Given the description of an element on the screen output the (x, y) to click on. 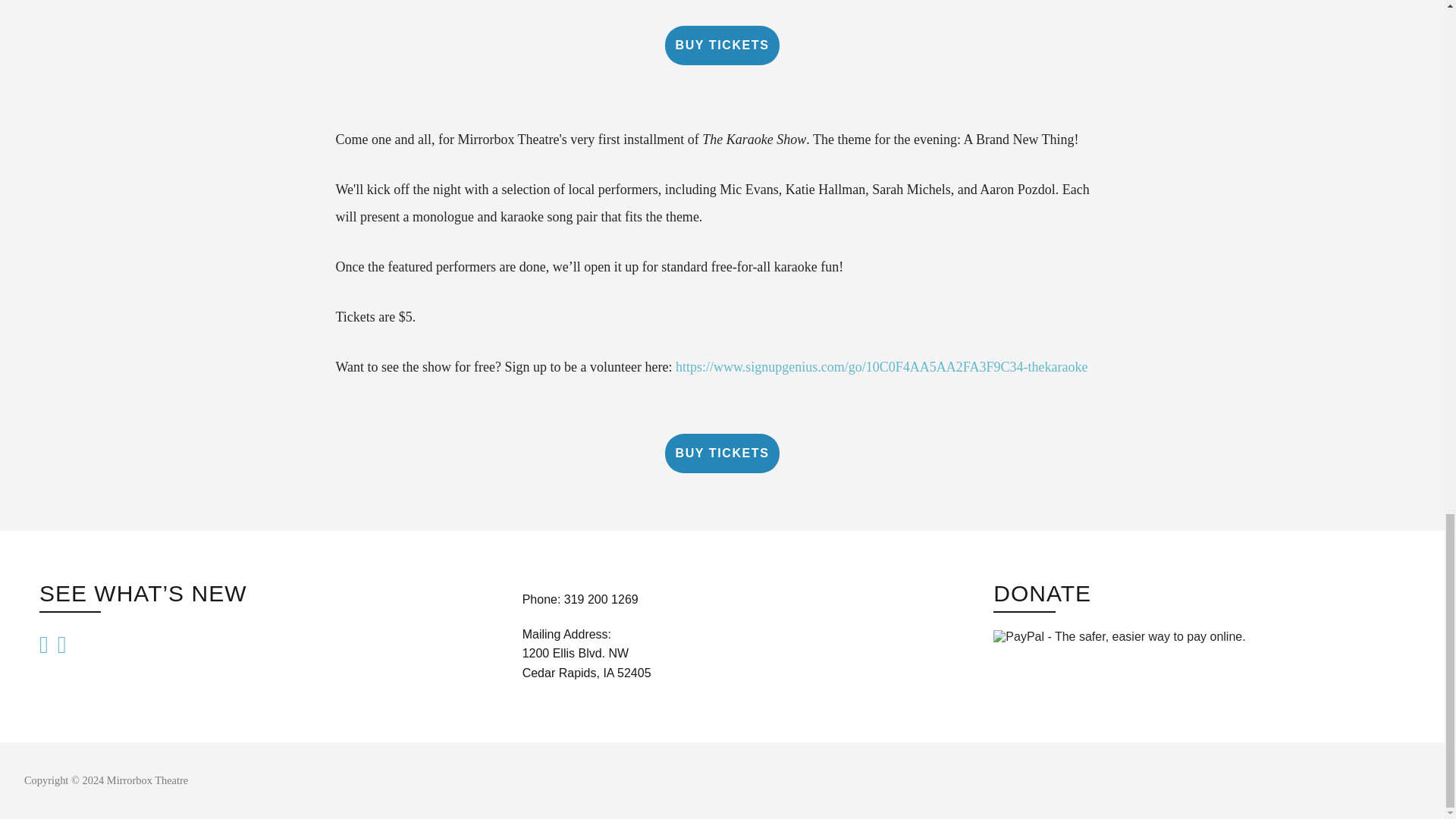
BUY TICKETS (720, 45)
BUY TICKETS (720, 453)
